Given the description of an element on the screen output the (x, y) to click on. 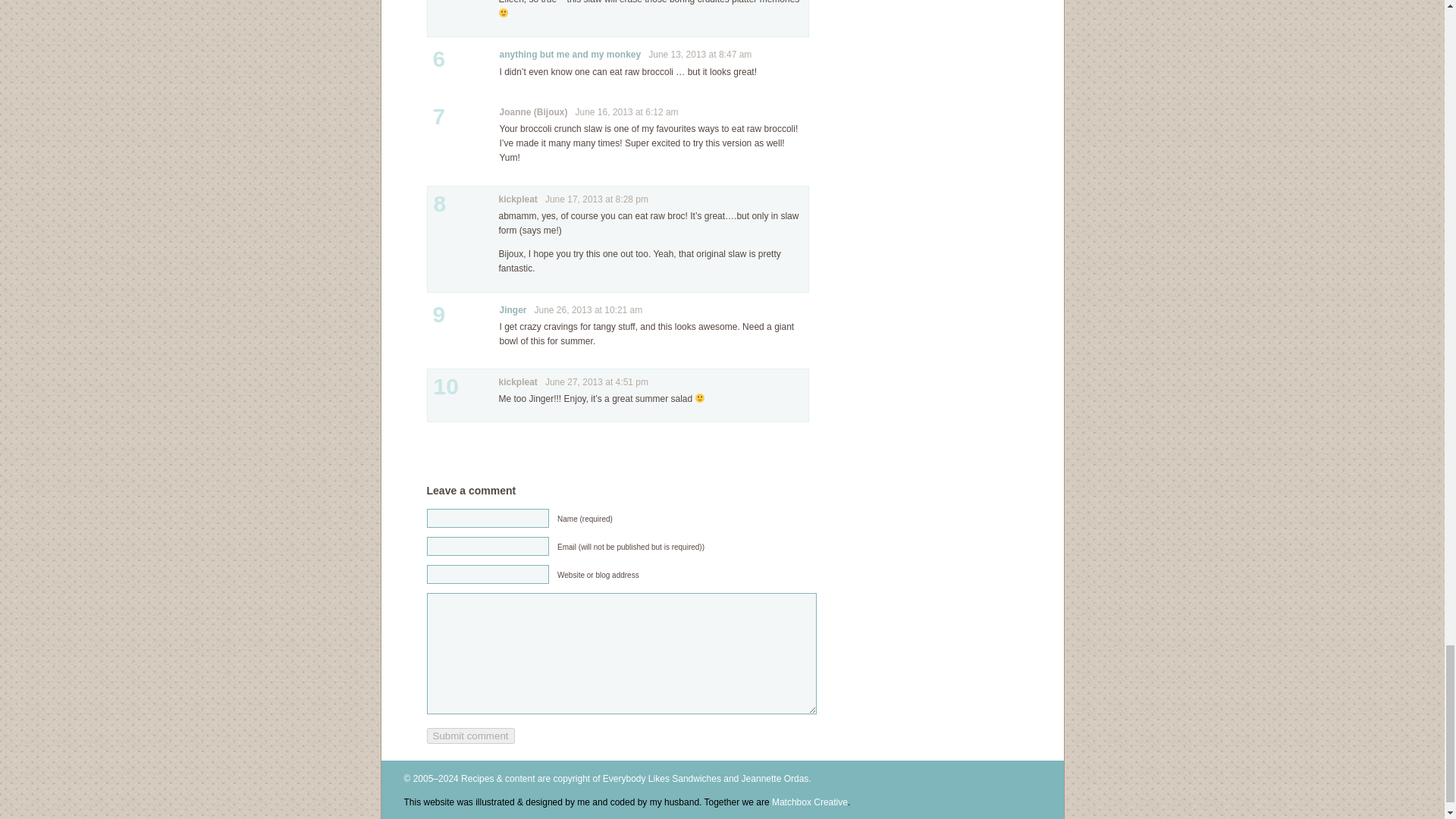
Submit comment (469, 735)
